Given the description of an element on the screen output the (x, y) to click on. 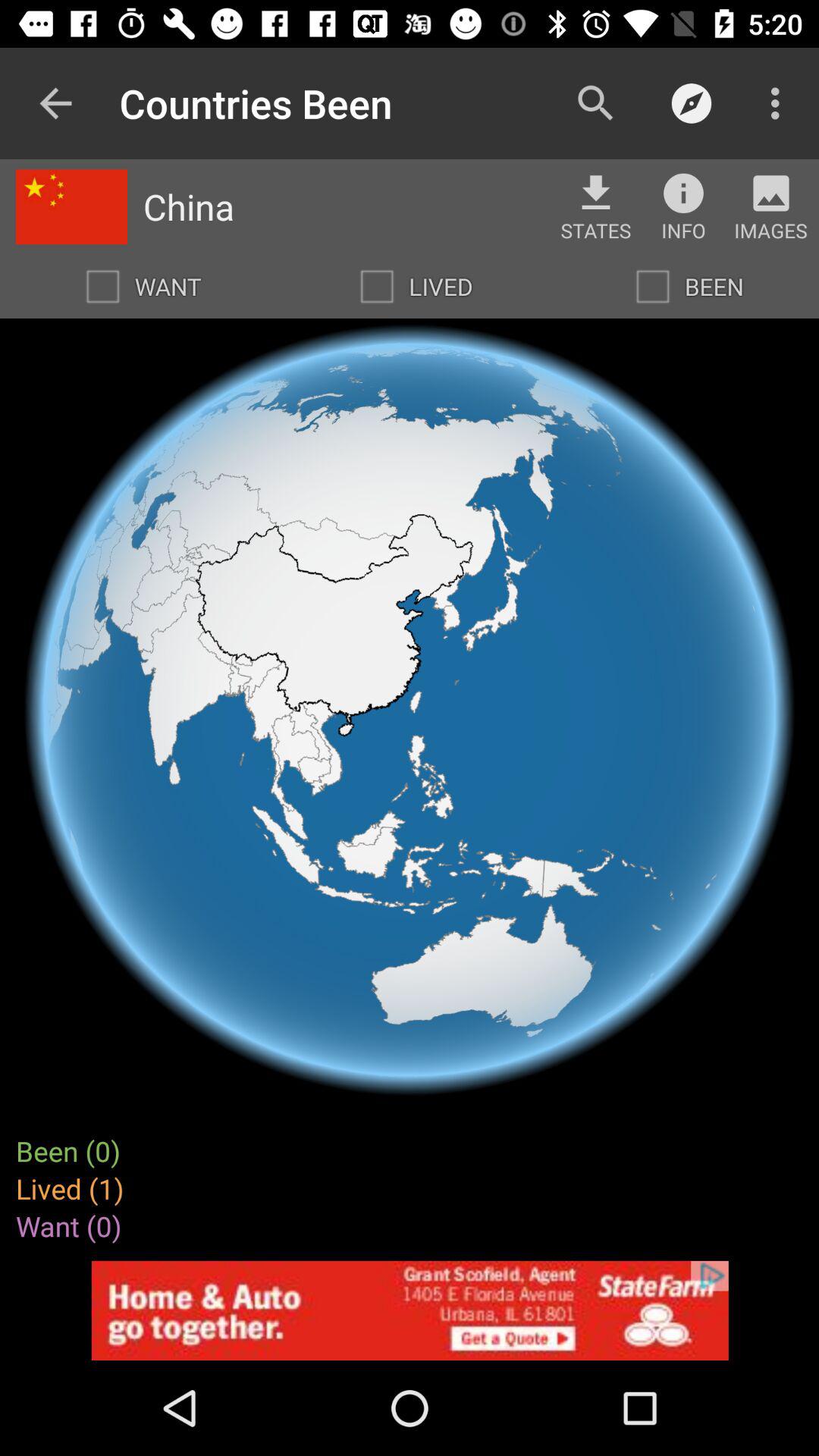
more information button (683, 193)
